Given the description of an element on the screen output the (x, y) to click on. 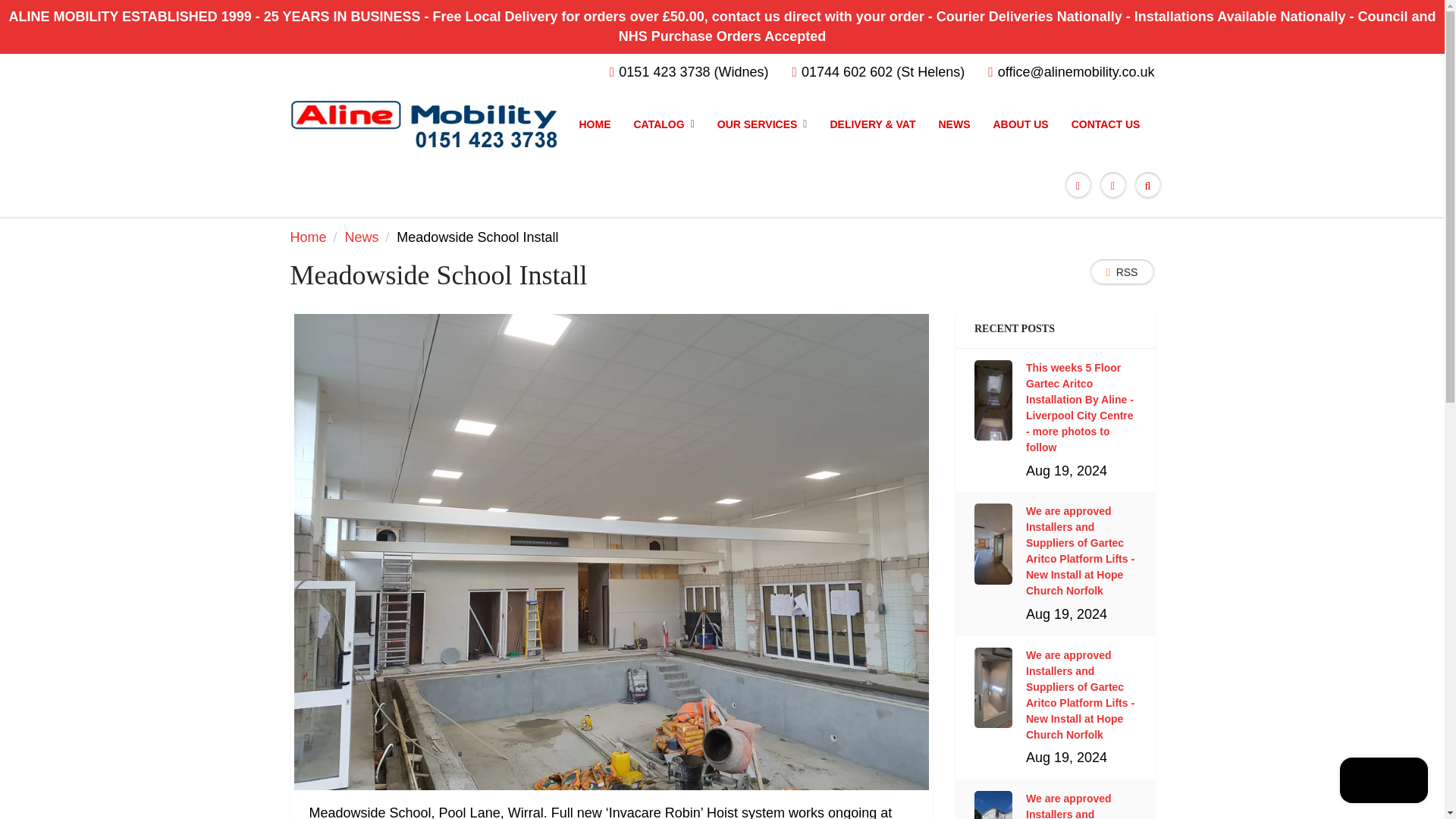
CONTACT US (1105, 124)
ABOUT US (1020, 124)
Home (307, 237)
CATALOG (662, 124)
OUR SERVICES (762, 124)
Shopify online store chat (1383, 781)
